Given the description of an element on the screen output the (x, y) to click on. 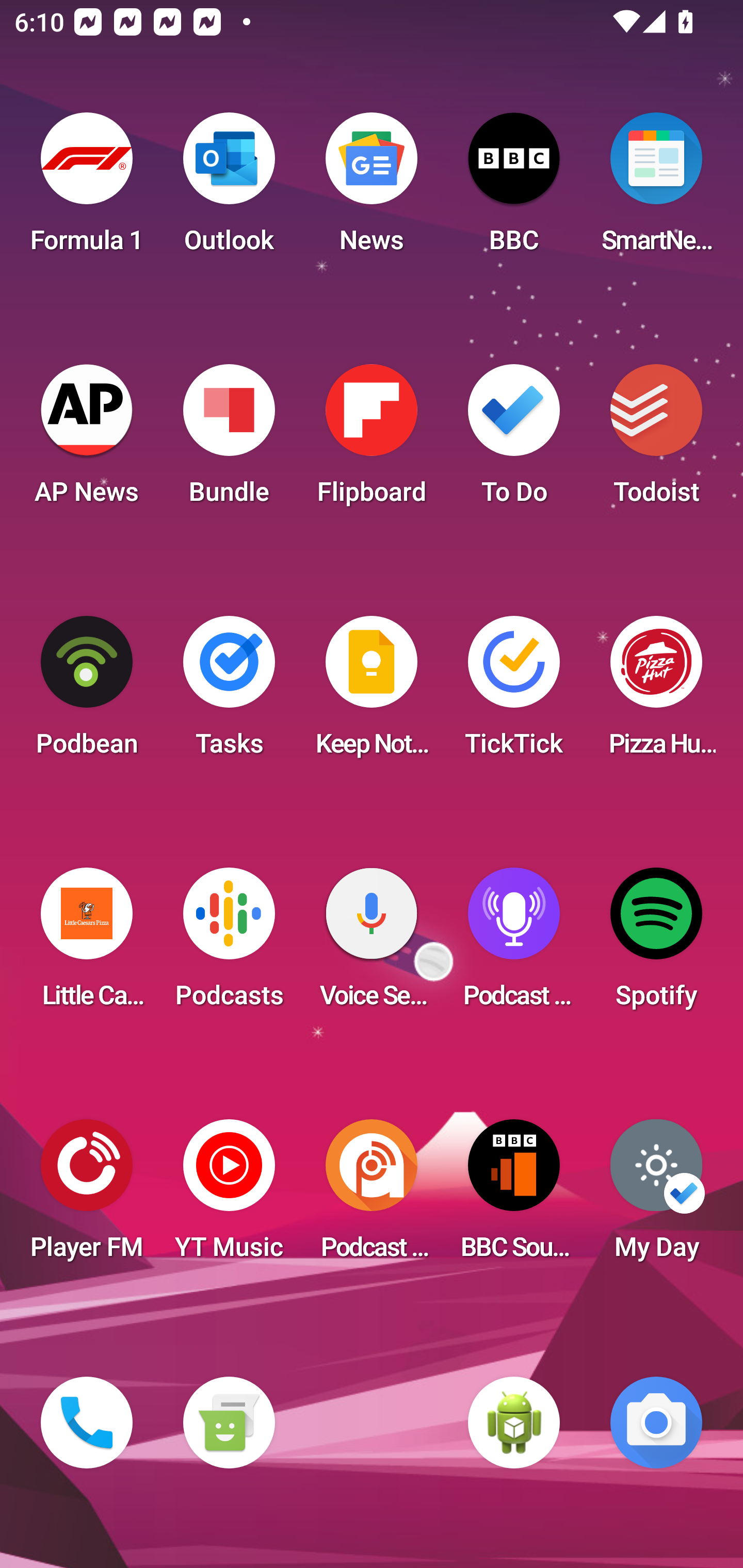
Formula 1 (86, 188)
Outlook (228, 188)
News (371, 188)
BBC (513, 188)
SmartNews (656, 188)
AP News (86, 440)
Bundle (228, 440)
Flipboard (371, 440)
To Do (513, 440)
Todoist (656, 440)
Podbean (86, 692)
Tasks (228, 692)
Keep Notes (371, 692)
TickTick (513, 692)
Pizza Hut HK & Macau (656, 692)
Little Caesars Pizza (86, 943)
Podcasts (228, 943)
Voice Search (371, 943)
Podcast Player (513, 943)
Spotify (656, 943)
Player FM (86, 1195)
YT Music (228, 1195)
Podcast Addict (371, 1195)
BBC Sounds (513, 1195)
My Day (656, 1195)
Phone (86, 1422)
Messaging (228, 1422)
WebView Browser Tester (513, 1422)
Camera (656, 1422)
